Given the description of an element on the screen output the (x, y) to click on. 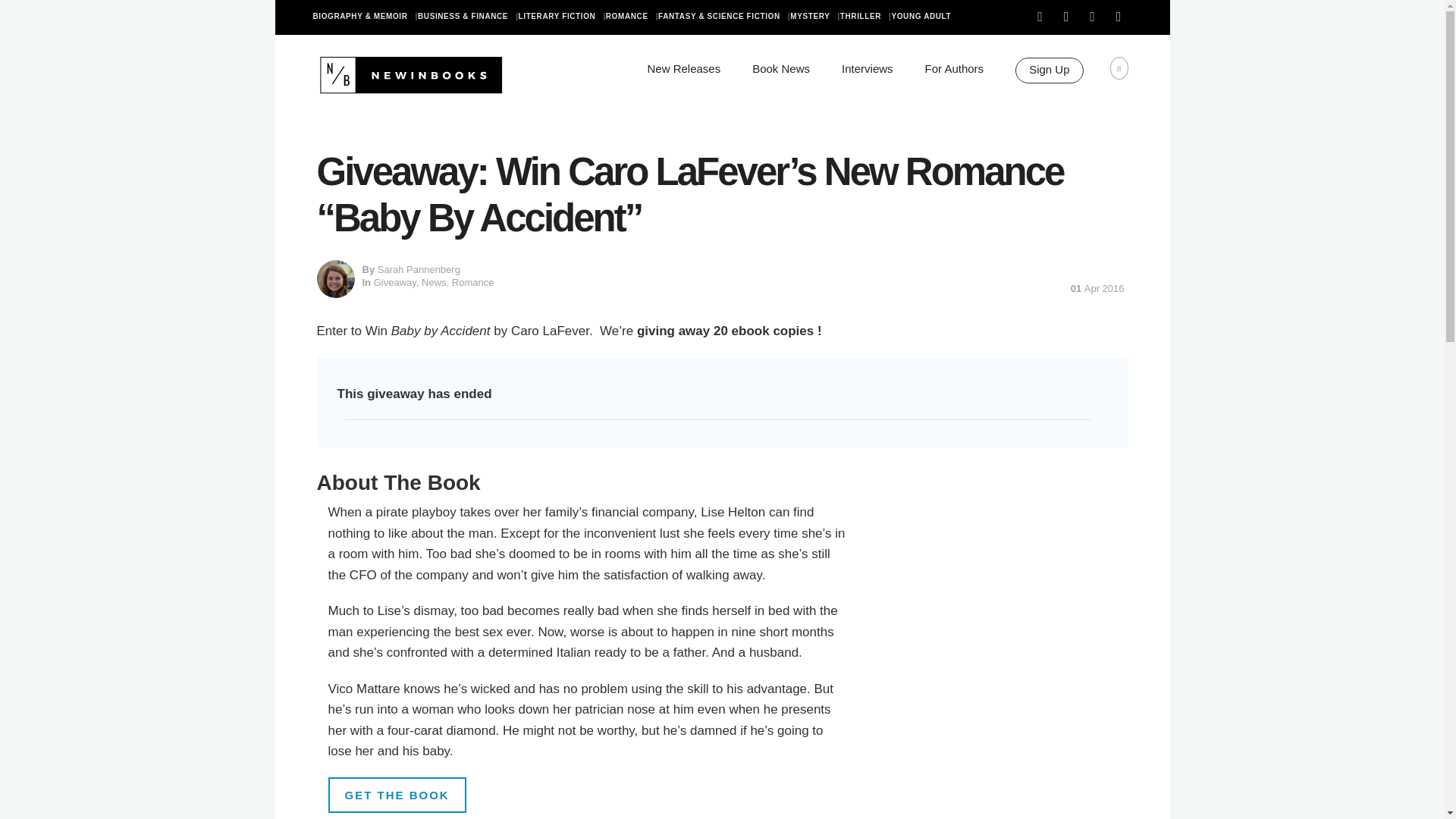
YOUNG ADULT (924, 16)
Sarah Pannenberg (418, 269)
Sign Up (1048, 70)
LITERARY FICTION (561, 16)
Posts by Sarah Pannenberg (418, 269)
Romance (473, 282)
Interviews (867, 68)
Giveaway (395, 282)
GET THE BOOK (396, 795)
MYSTERY (815, 16)
Book News (780, 68)
ROMANCE (631, 16)
THRILLER (865, 16)
New Releases (683, 68)
For Authors (954, 68)
